Given the description of an element on the screen output the (x, y) to click on. 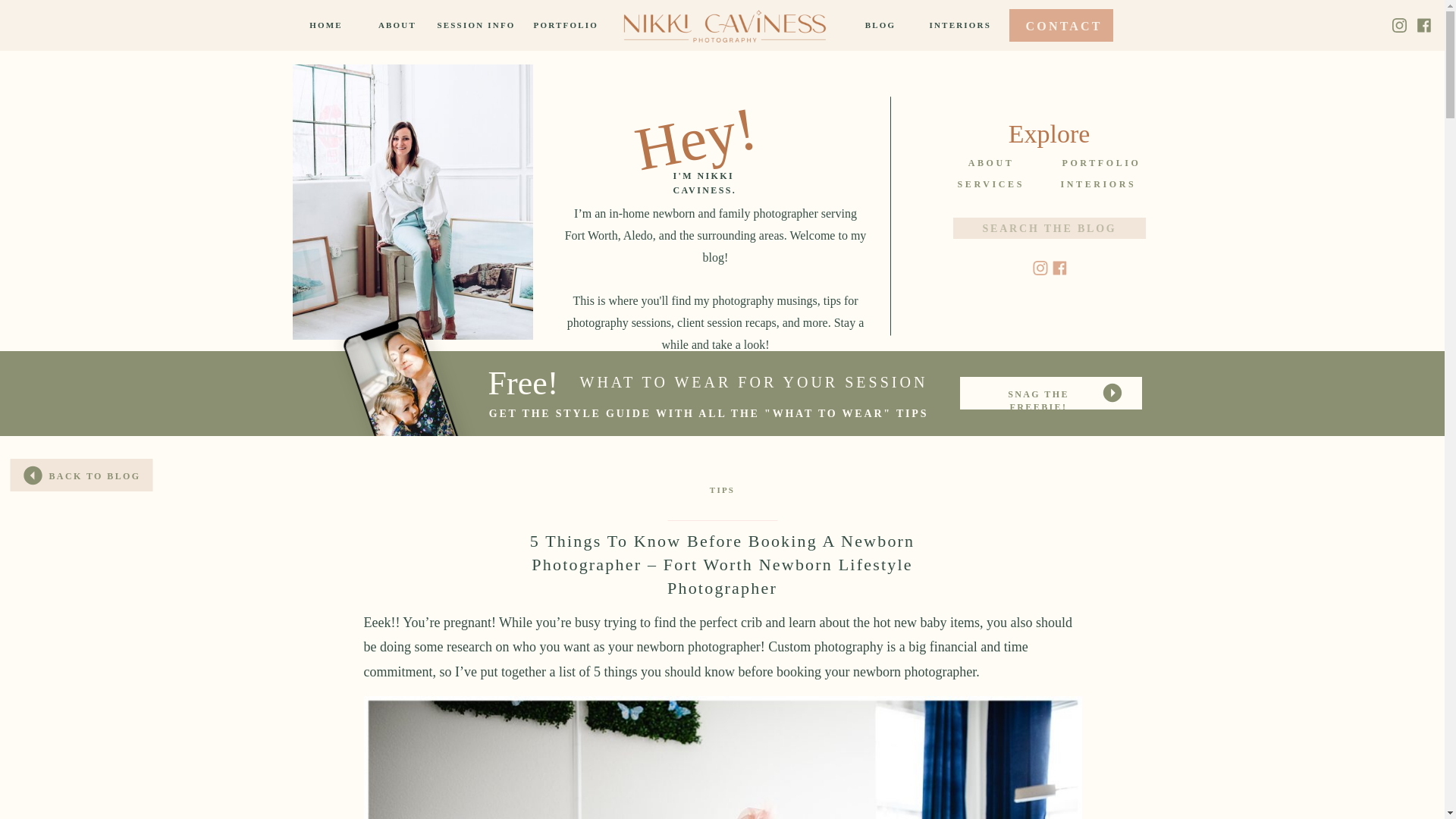
INTERIORS (1092, 187)
SESSION INFO (476, 24)
Facebook Copy-color Created with Sketch. (1059, 268)
Instagram-color Created with Sketch. (1038, 268)
BACK TO BLOG (94, 474)
TIPS (722, 489)
CONTACT (1060, 22)
PORTFOLIO (1092, 166)
Facebook Copy-color Created with Sketch. (1423, 25)
BLOG (879, 24)
Instagram-color Created with Sketch. (1038, 268)
ABOUT (990, 166)
INTERIORS (952, 24)
HOME (325, 24)
PORTFOLIO (564, 24)
